Given the description of an element on the screen output the (x, y) to click on. 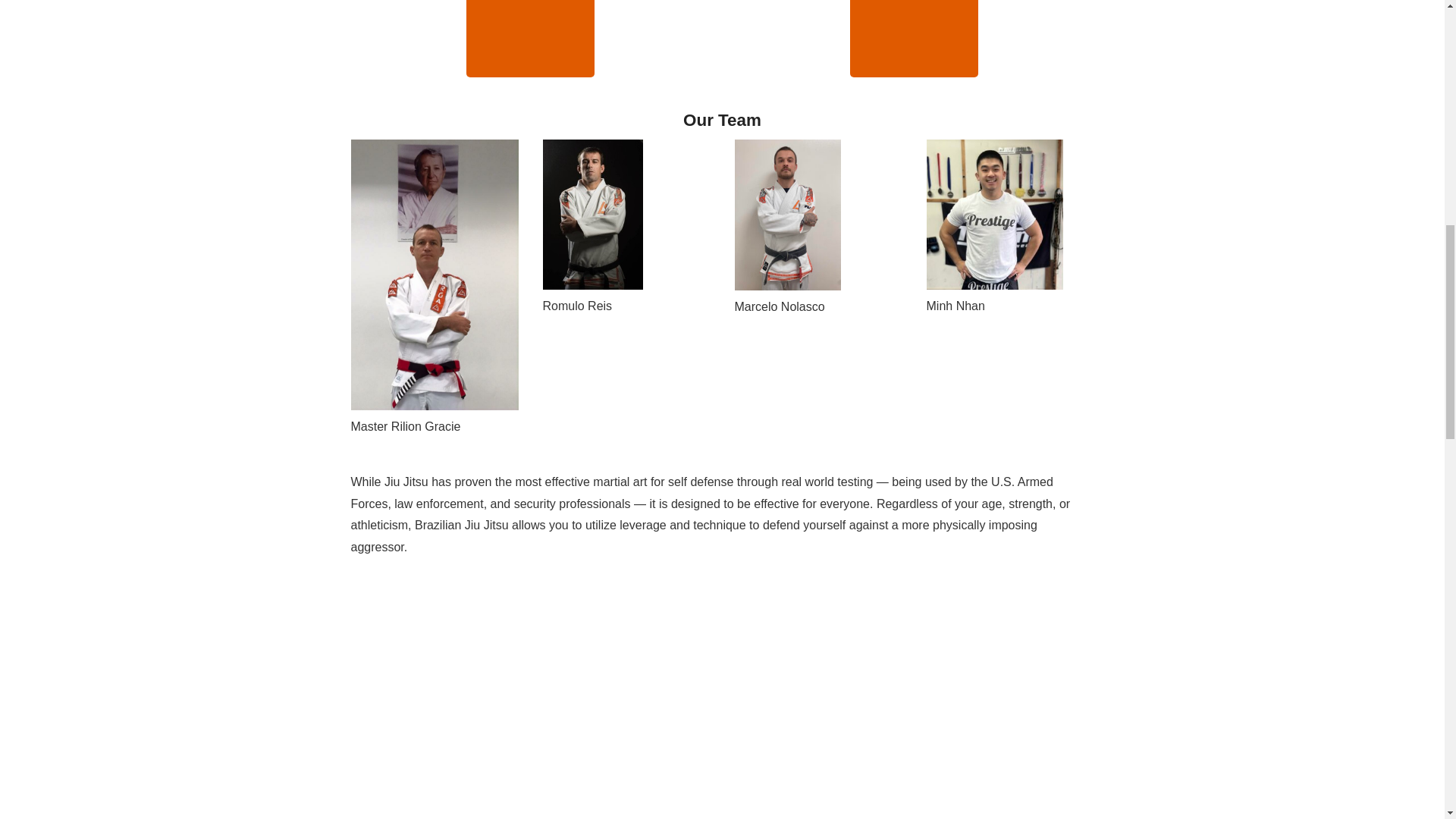
Self Defense (914, 38)
Kids Martial Arts (529, 38)
Rilion Gracie Jiu Jitsu Academy Houston TX (592, 692)
